Given the description of an element on the screen output the (x, y) to click on. 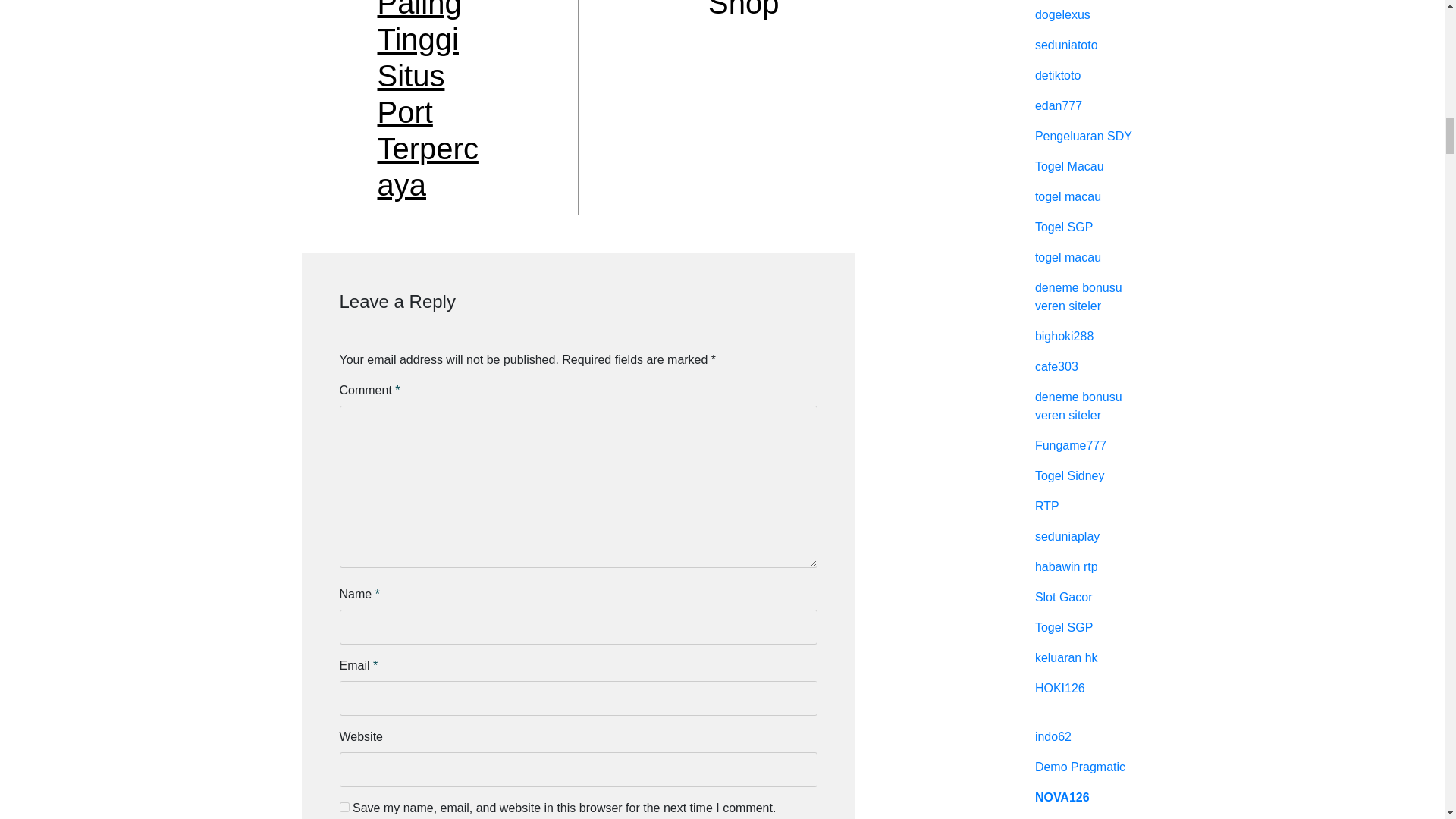
Sporting Activities Banking On The App Shop (726, 9)
yes (344, 807)
